Given the description of an element on the screen output the (x, y) to click on. 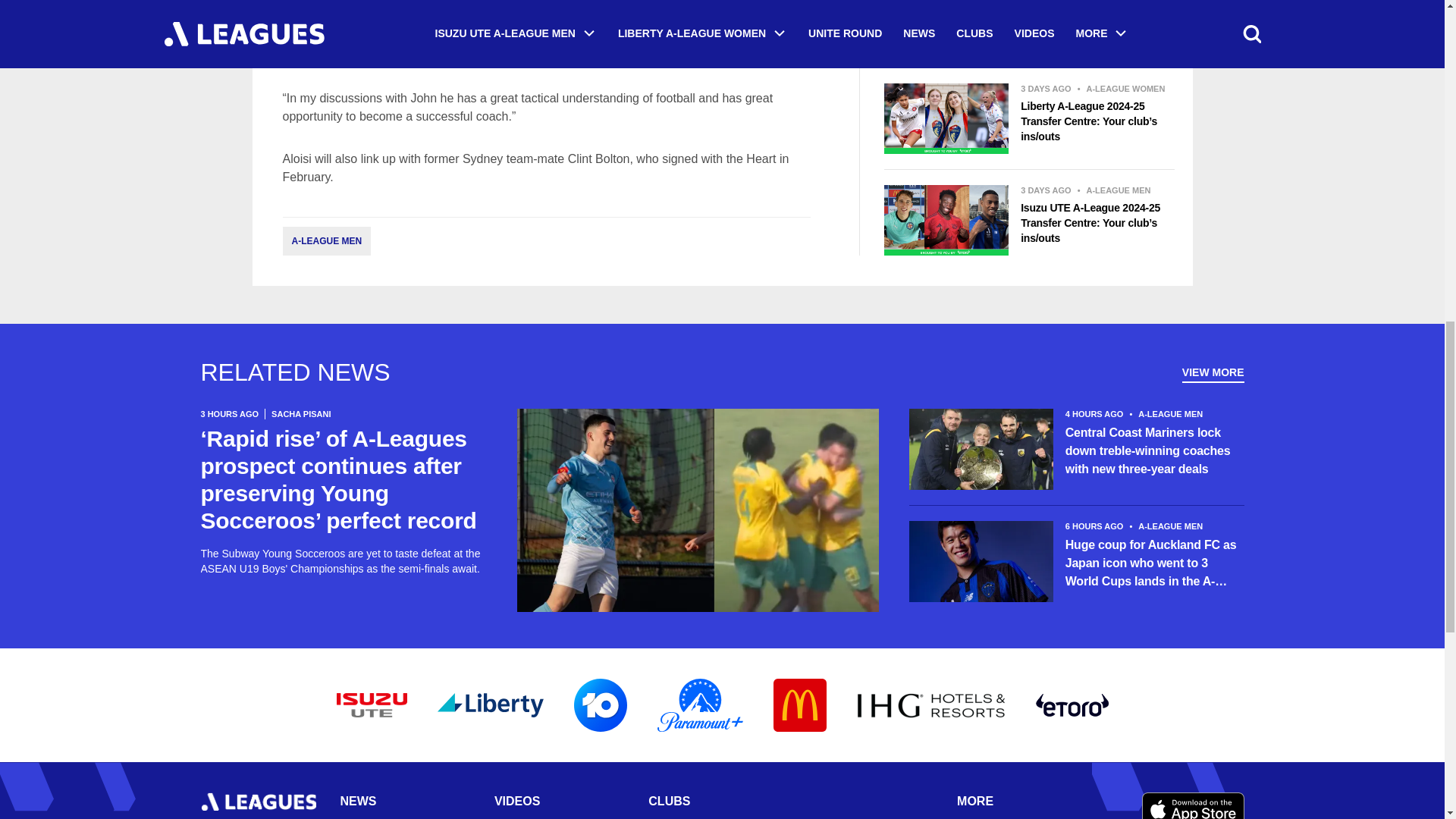
IHG (931, 705)
Isuzu UTE (371, 704)
Liberty (489, 704)
eToro (1071, 704)
McDonalds (800, 705)
Paramount (699, 705)
Channel 10 (599, 705)
